Given the description of an element on the screen output the (x, y) to click on. 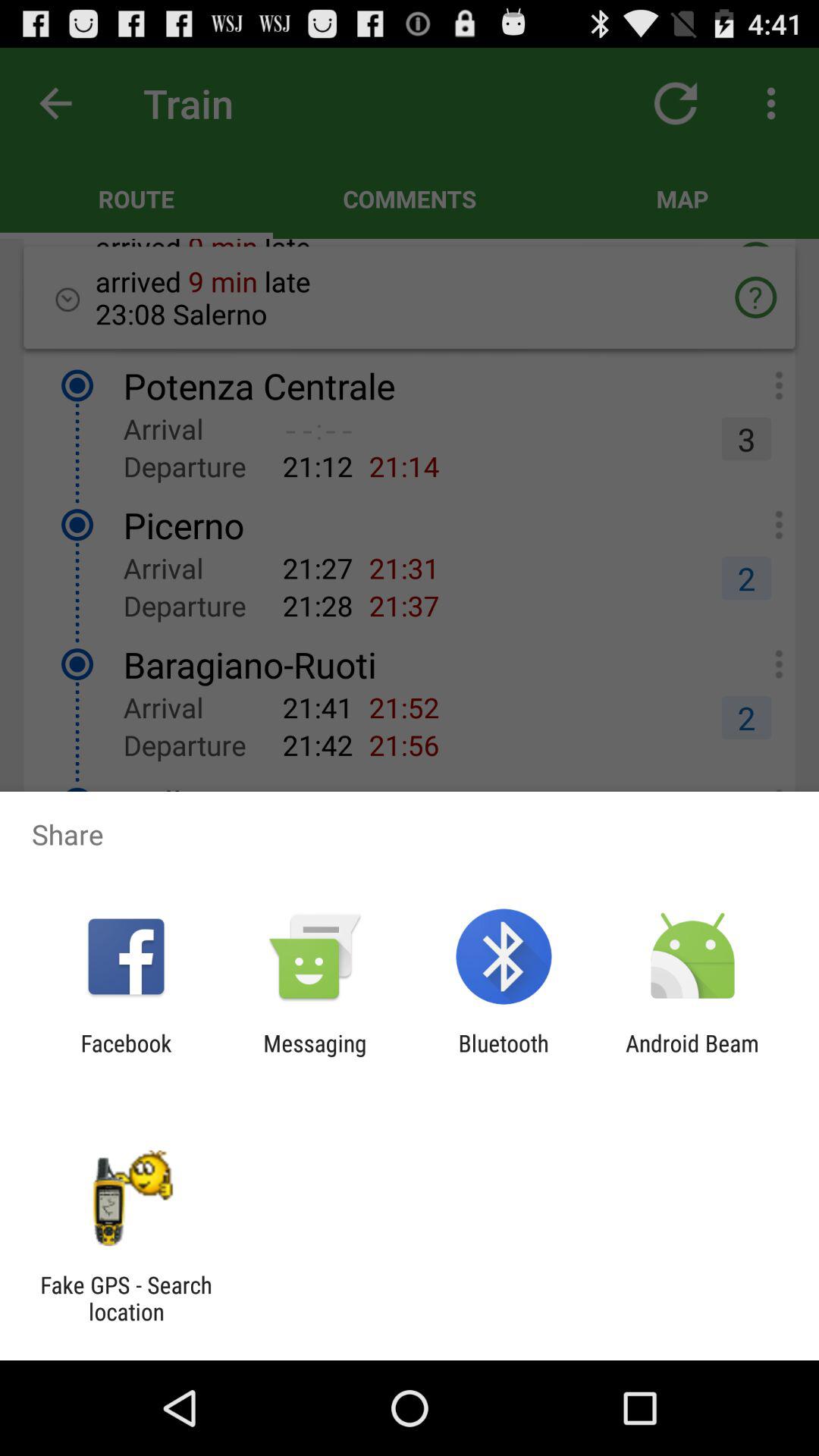
swipe to bluetooth (503, 1056)
